Given the description of an element on the screen output the (x, y) to click on. 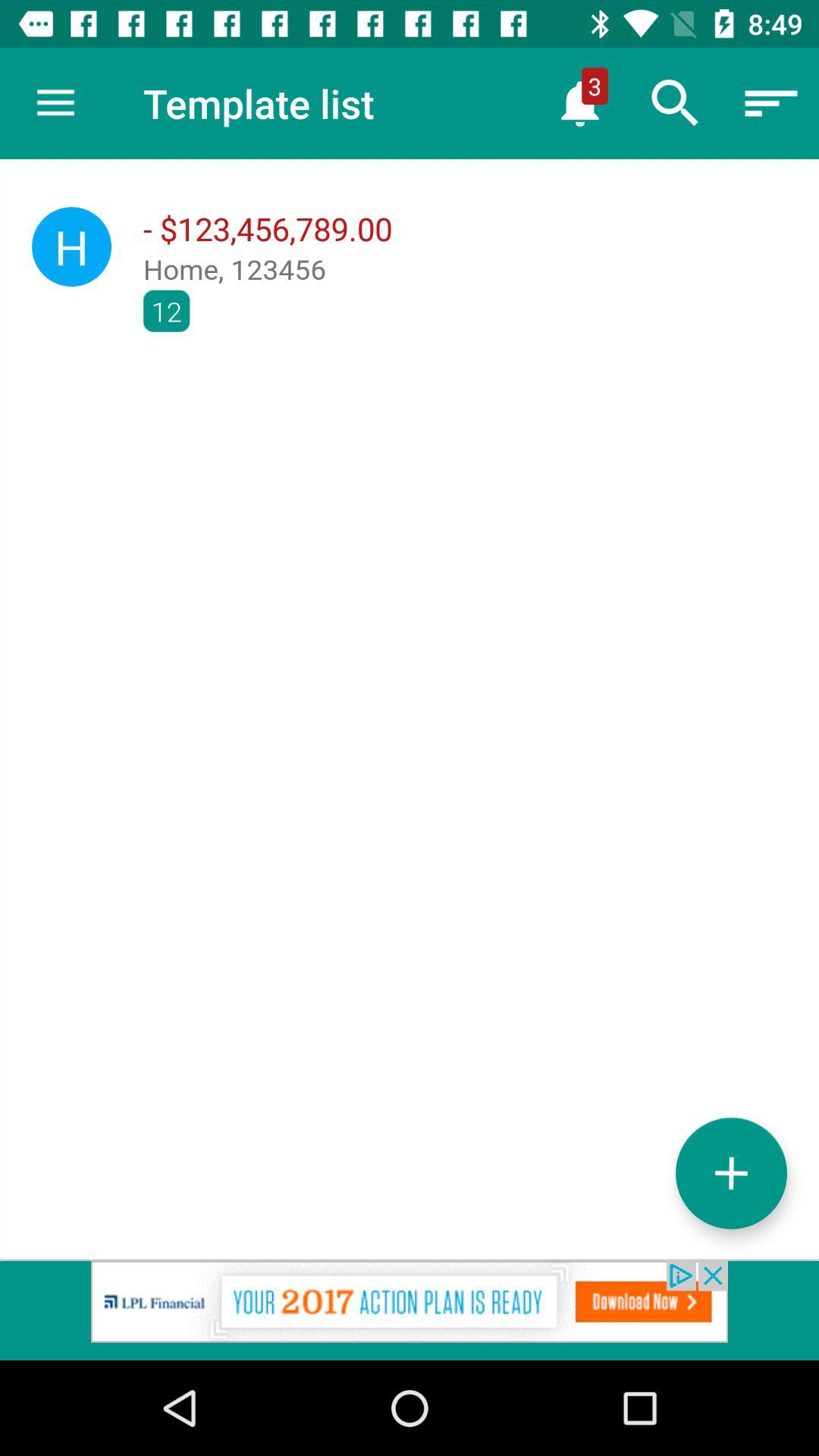
go to increase (731, 1173)
